Given the description of an element on the screen output the (x, y) to click on. 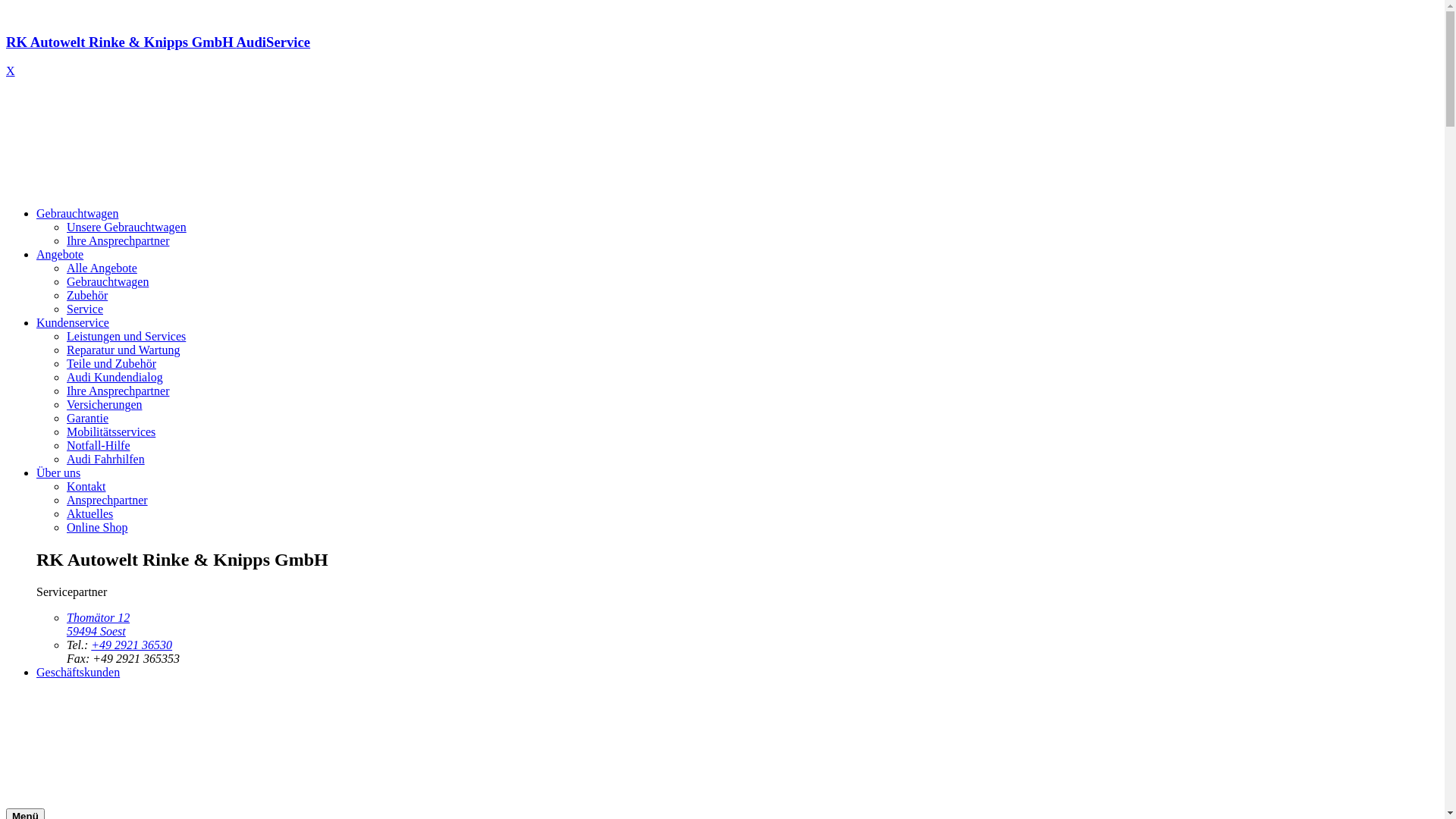
Garantie Element type: text (87, 417)
Ansprechpartner Element type: text (106, 499)
Angebote Element type: text (59, 253)
Alle Angebote Element type: text (101, 267)
Gebrauchtwagen Element type: text (107, 281)
X Element type: text (10, 70)
Audi Kundendialog Element type: text (114, 376)
Unsere Gebrauchtwagen Element type: text (126, 226)
Online Shop Element type: text (96, 526)
Ihre Ansprechpartner Element type: text (117, 390)
Gebrauchtwagen Element type: text (77, 213)
Audi Fahrhilfen Element type: text (105, 458)
RK Autowelt Rinke & Knipps GmbH AudiService Element type: text (722, 56)
Ihre Ansprechpartner Element type: text (117, 240)
Service Element type: text (84, 308)
Kontakt Element type: text (86, 486)
+49 2921 36530 Element type: text (131, 644)
Kundenservice Element type: text (72, 322)
Leistungen und Services Element type: text (125, 335)
Reparatur und Wartung Element type: text (122, 349)
Versicherungen Element type: text (104, 404)
Aktuelles Element type: text (89, 513)
Notfall-Hilfe Element type: text (98, 445)
